Given the description of an element on the screen output the (x, y) to click on. 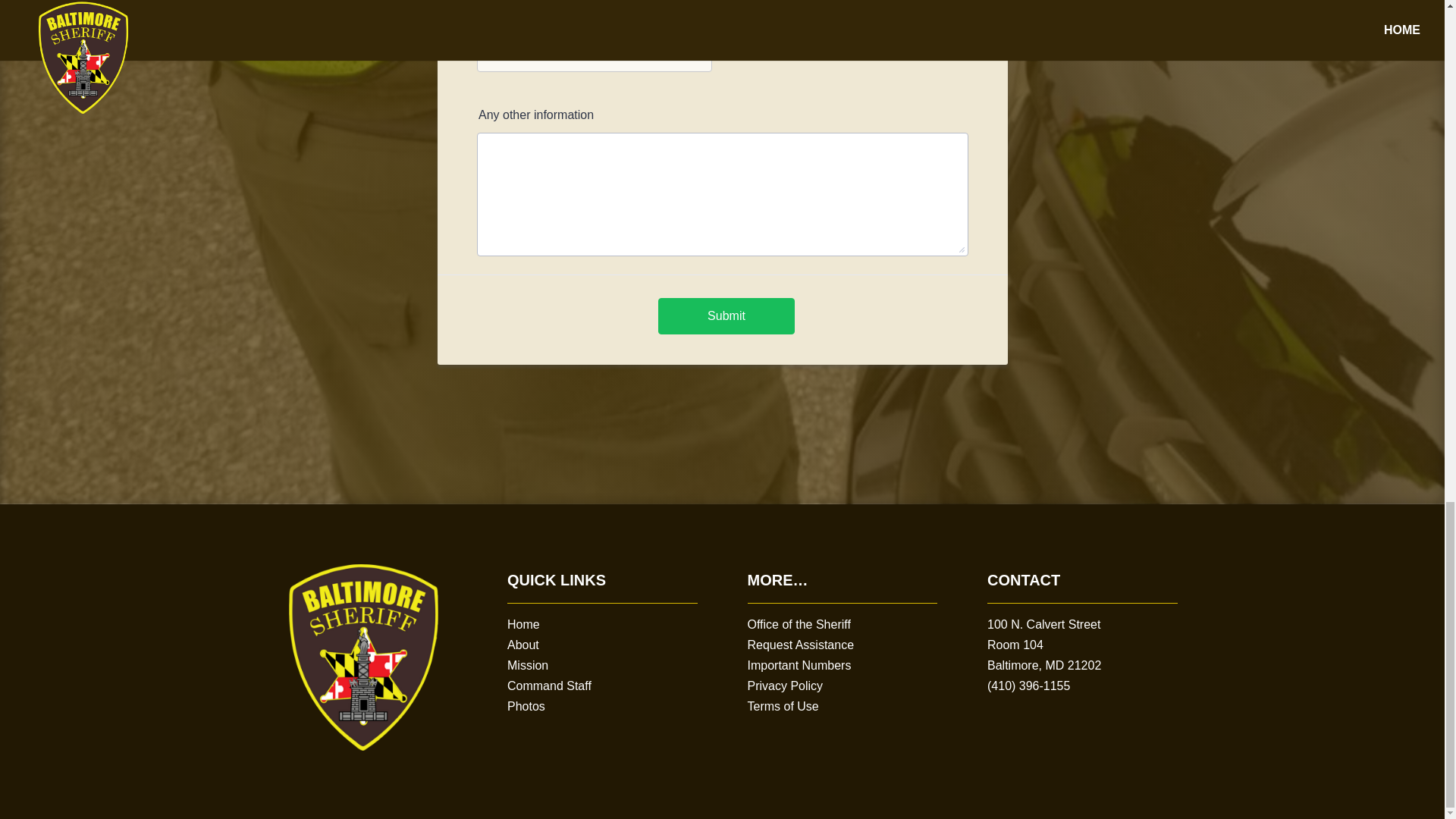
Important Numbers (799, 665)
Office of the Sheriff (799, 624)
Terms of Use (783, 706)
About (522, 644)
Home (523, 624)
Photos (525, 706)
Mission (527, 665)
Privacy Policy (786, 685)
Command Staff (548, 685)
bsco-logo-300x300 (361, 656)
